Given the description of an element on the screen output the (x, y) to click on. 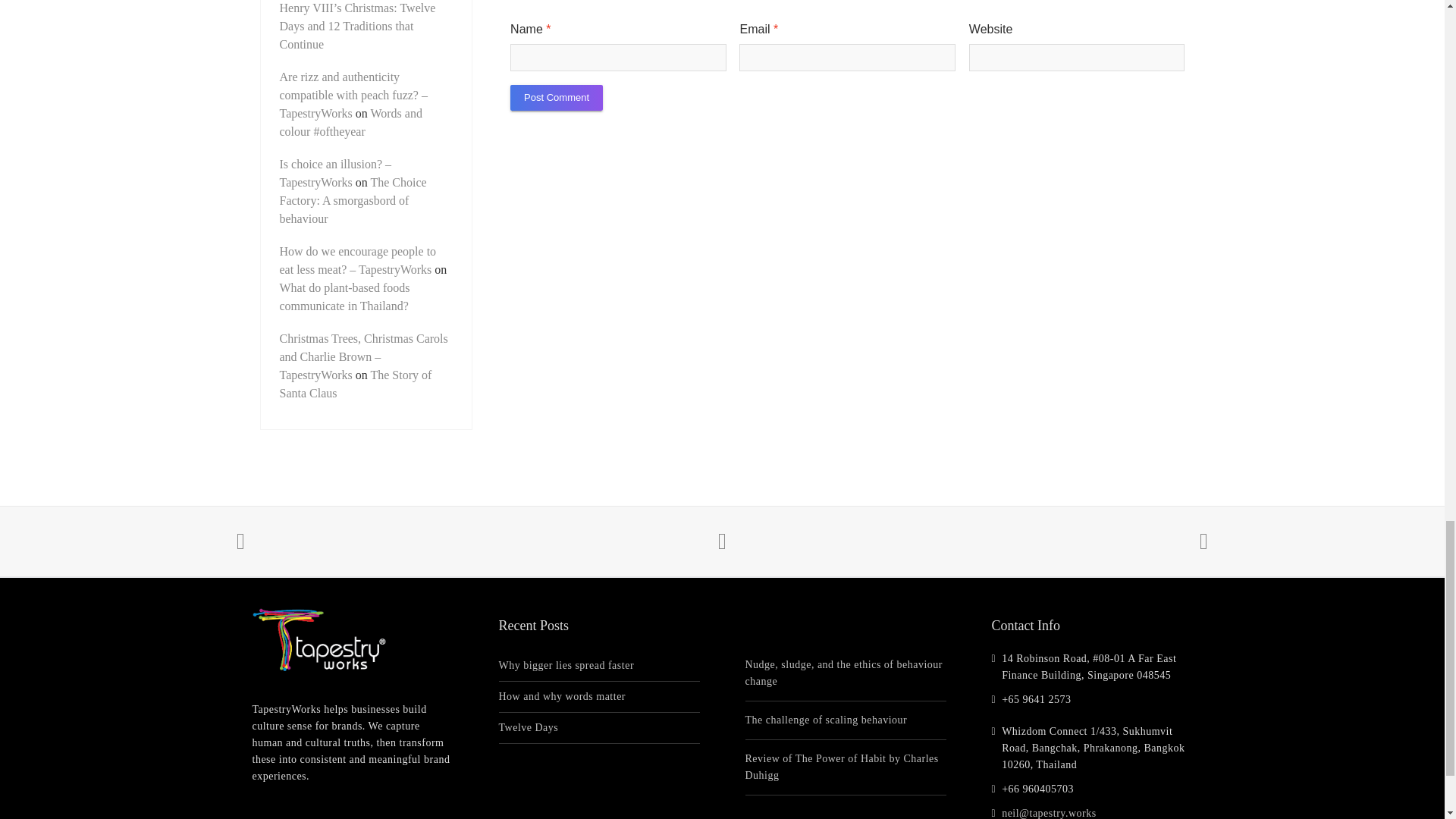
Post Comment (556, 97)
